Given the description of an element on the screen output the (x, y) to click on. 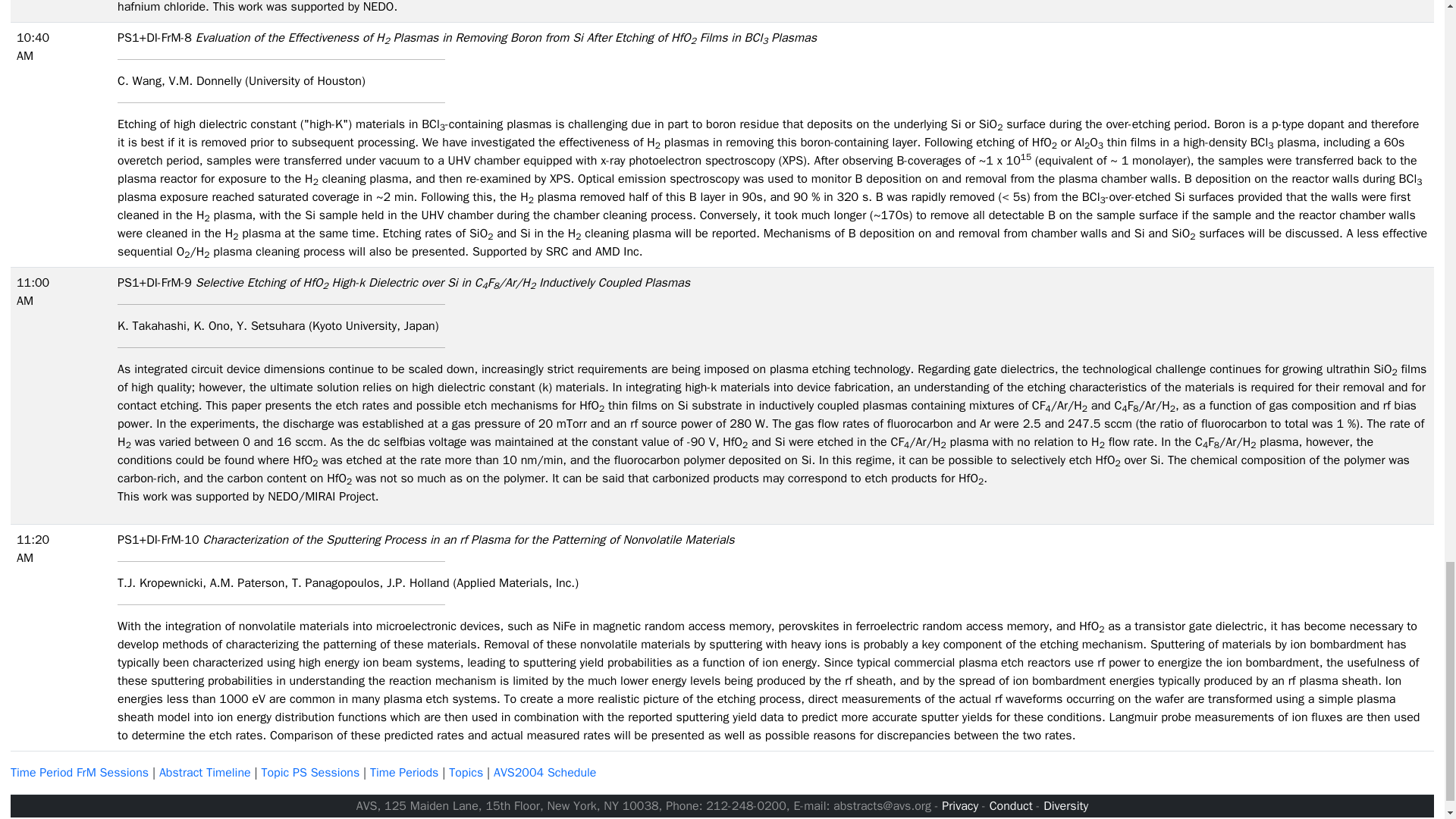
Time Periods (403, 772)
Time Period FrM Sessions (79, 772)
Topics (465, 772)
Topic PS Sessions (309, 772)
AVS2004 Schedule (544, 772)
Abstract Timeline (204, 772)
